Given the description of an element on the screen output the (x, y) to click on. 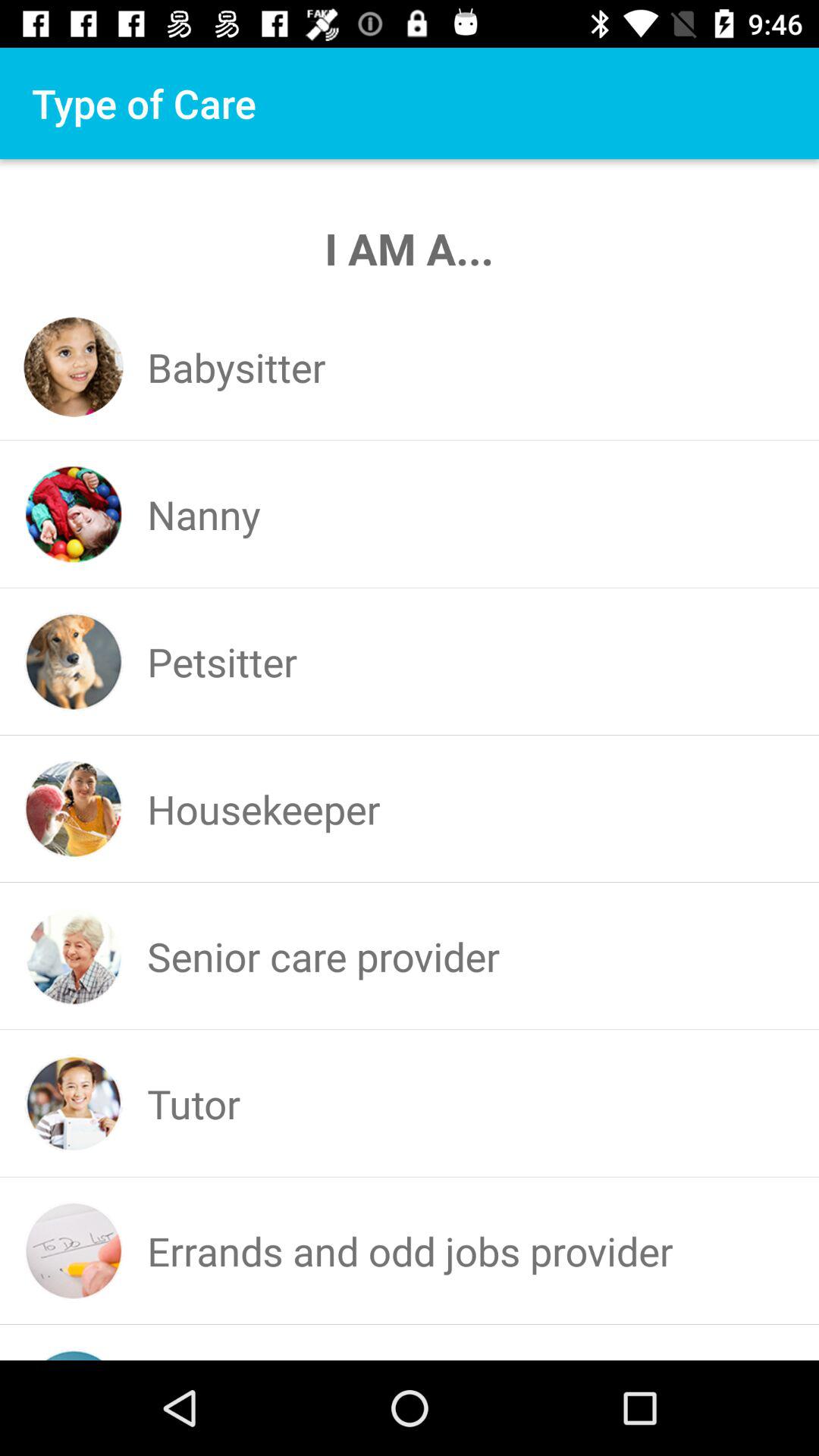
turn on the petsitter app (222, 661)
